Given the description of an element on the screen output the (x, y) to click on. 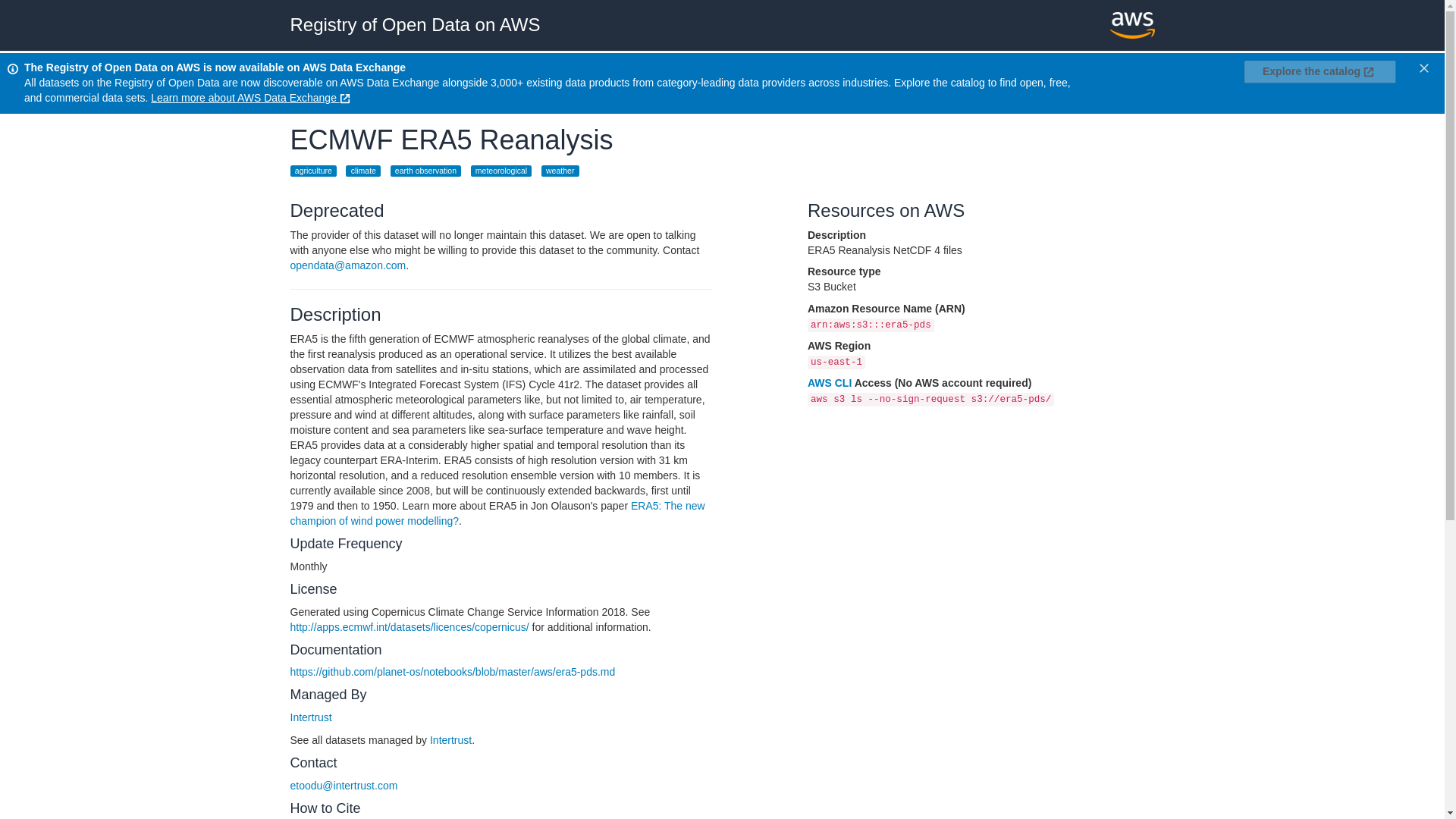
Intertrust (450, 739)
ERA5: The new champion of wind power modelling? (496, 513)
Explore the catalog (1320, 71)
Registry of Open Data on AWS (414, 24)
Intertrust (310, 717)
AWS CLI (829, 382)
Learn more about AWS Data Exchange (252, 97)
